Given the description of an element on the screen output the (x, y) to click on. 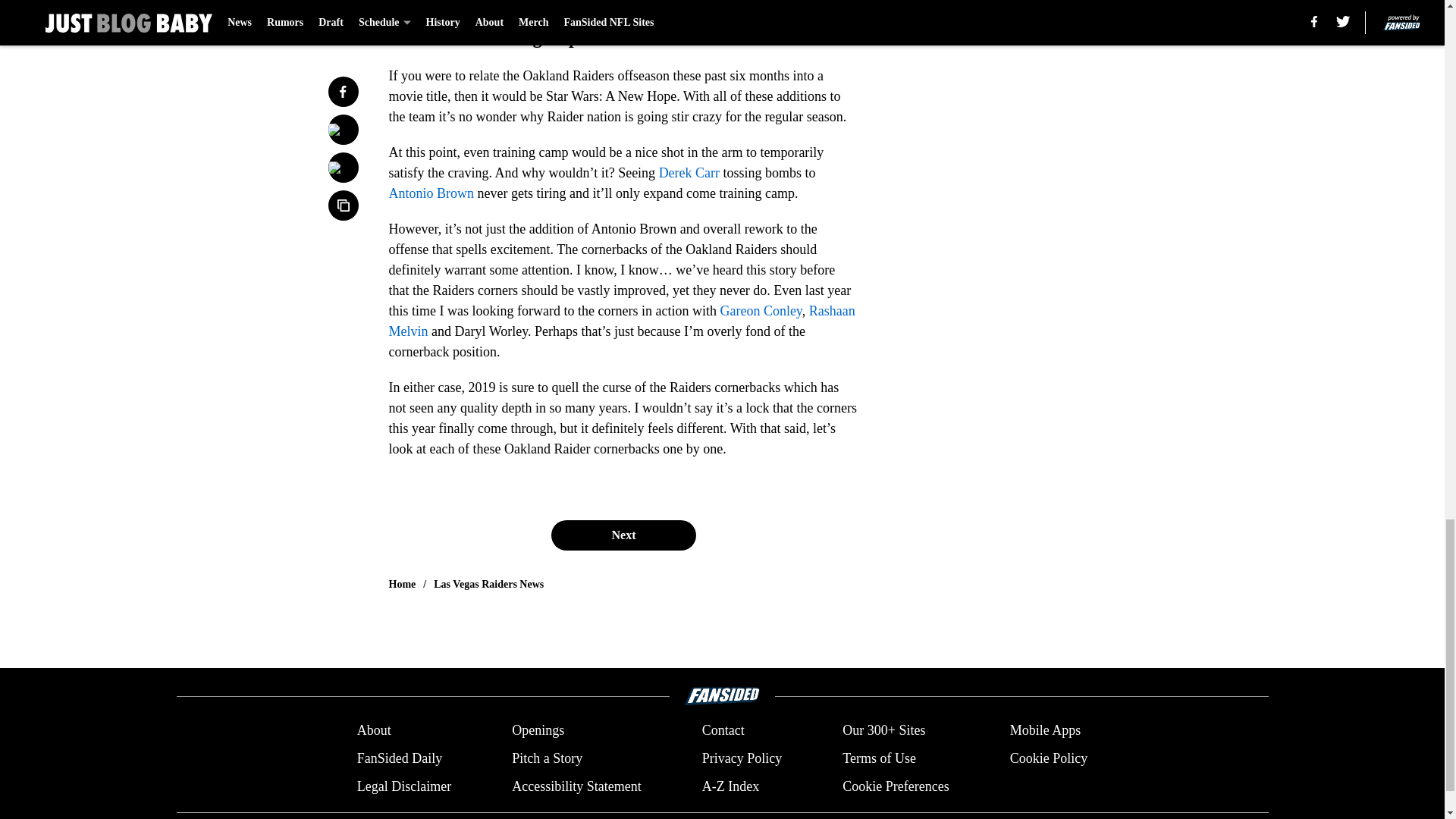
Home (401, 584)
Terms of Use (879, 758)
Next (622, 535)
About (373, 730)
Rashaan Melvin (621, 321)
Antonio Brown (431, 192)
Pitch a Story (547, 758)
Las Vegas Raiders News (488, 584)
Gareon Conley (760, 310)
FanSided Daily (399, 758)
